Given the description of an element on the screen output the (x, y) to click on. 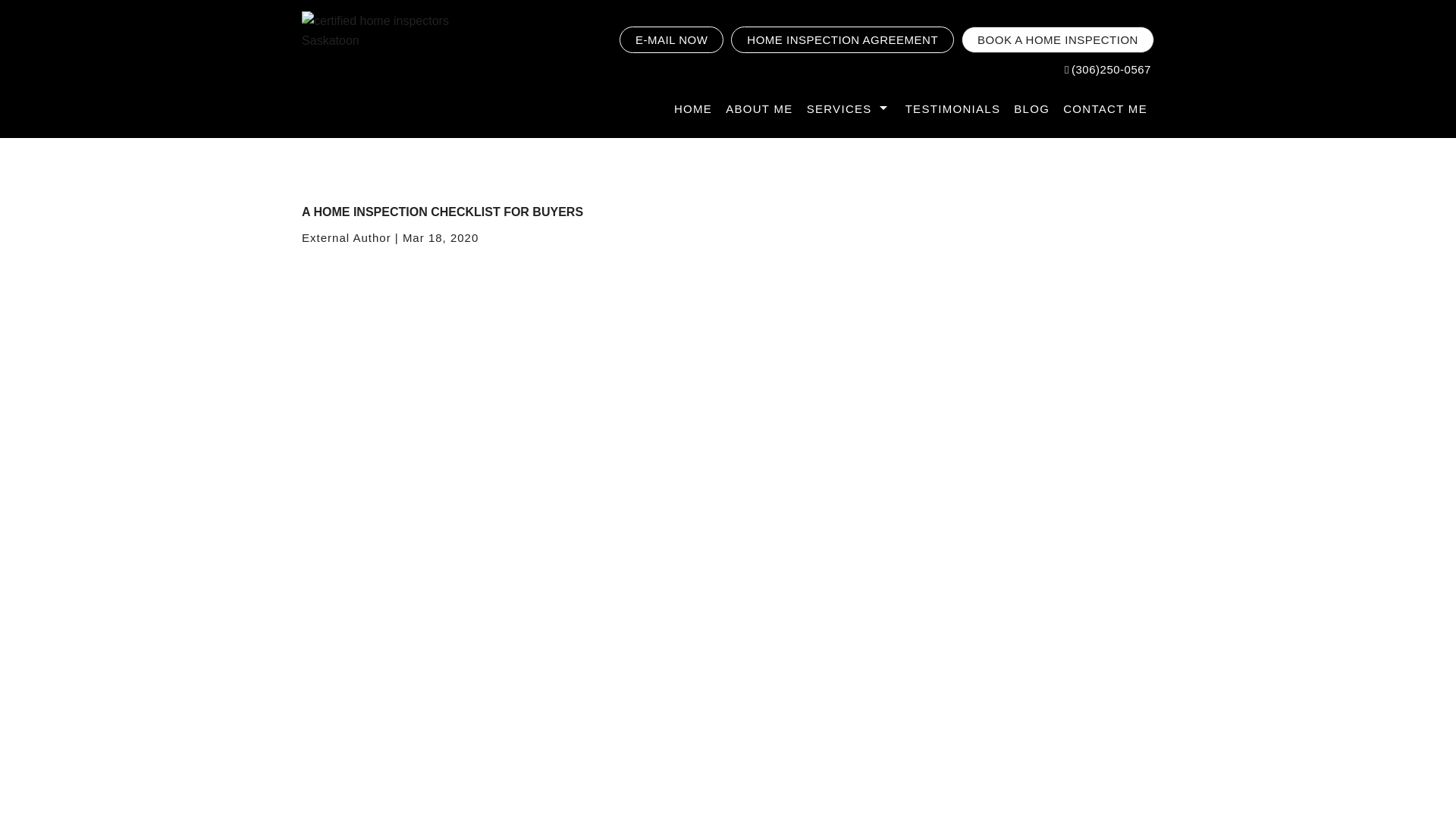
HOME INSPECTION AGREEMENT (841, 39)
HOME (692, 108)
TESTIMONIALS (952, 108)
CONTACT ME (1105, 108)
SERVICES (848, 108)
BLOG (1032, 108)
ABOUT ME (759, 108)
BOOK A HOME INSPECTION (1057, 39)
E-MAIL NOW (671, 39)
